Given the description of an element on the screen output the (x, y) to click on. 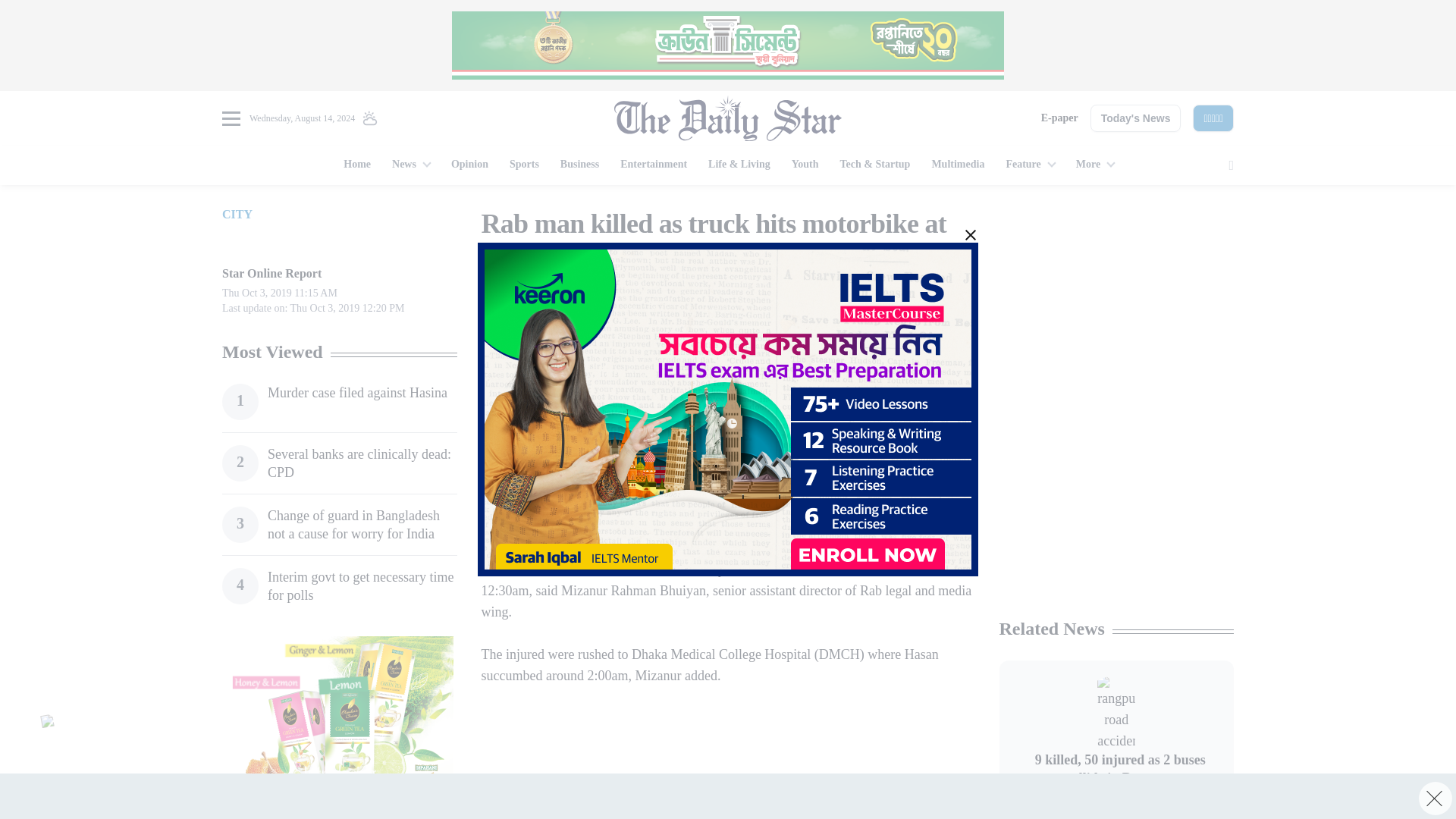
3rd party ad content (720, 418)
Youth (805, 165)
Feature (1028, 165)
9 killed, 50 injured as 2 buses collide in Rangpur (1116, 713)
Road Accident in Dhaka Today (571, 296)
Home (357, 165)
Multimedia (956, 165)
Today's News (1135, 117)
3rd party ad content (1116, 302)
3rd party ad content (1116, 506)
